Given the description of an element on the screen output the (x, y) to click on. 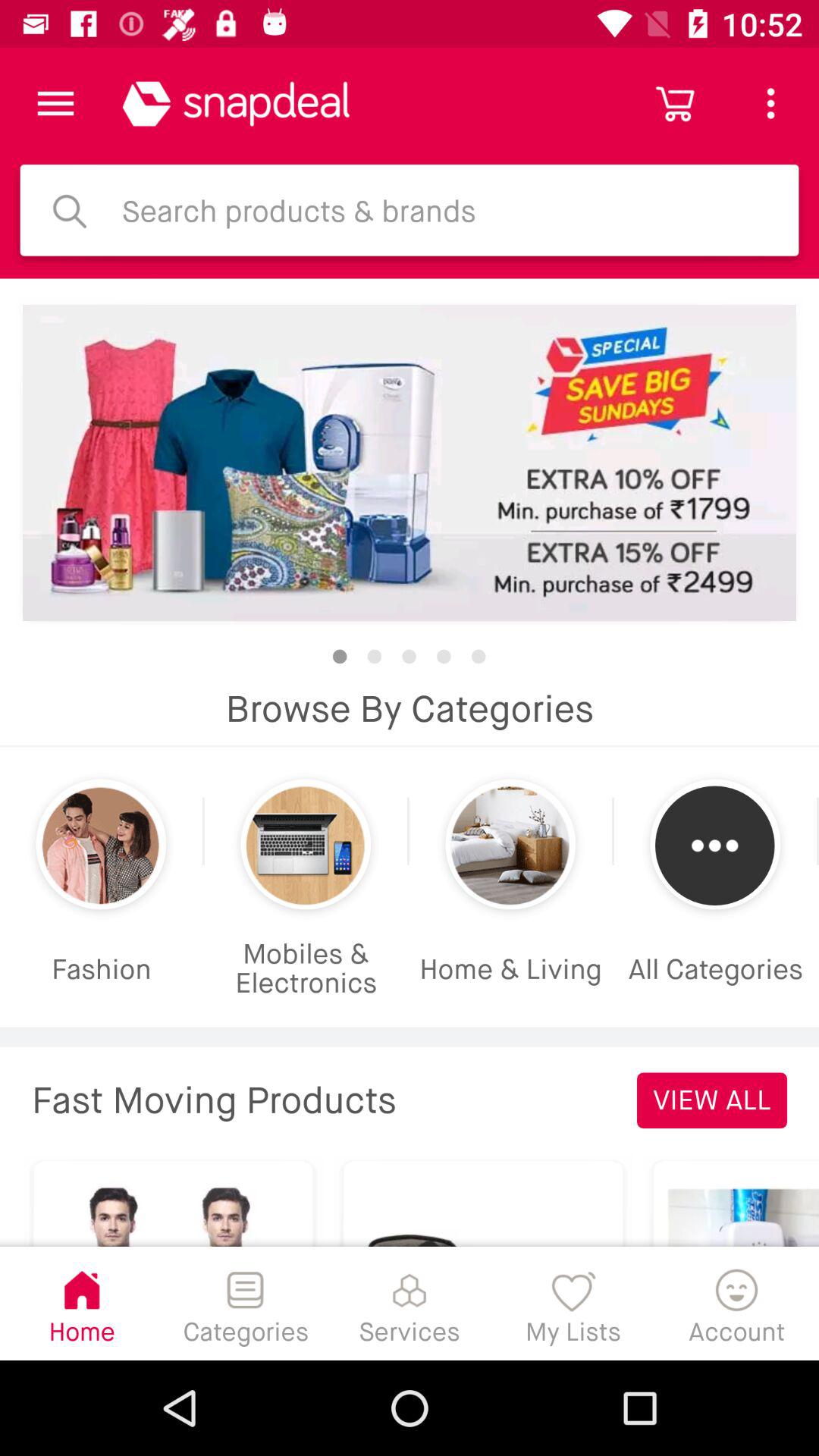
press the icon to the right of the my lists item (737, 1303)
